Given the description of an element on the screen output the (x, y) to click on. 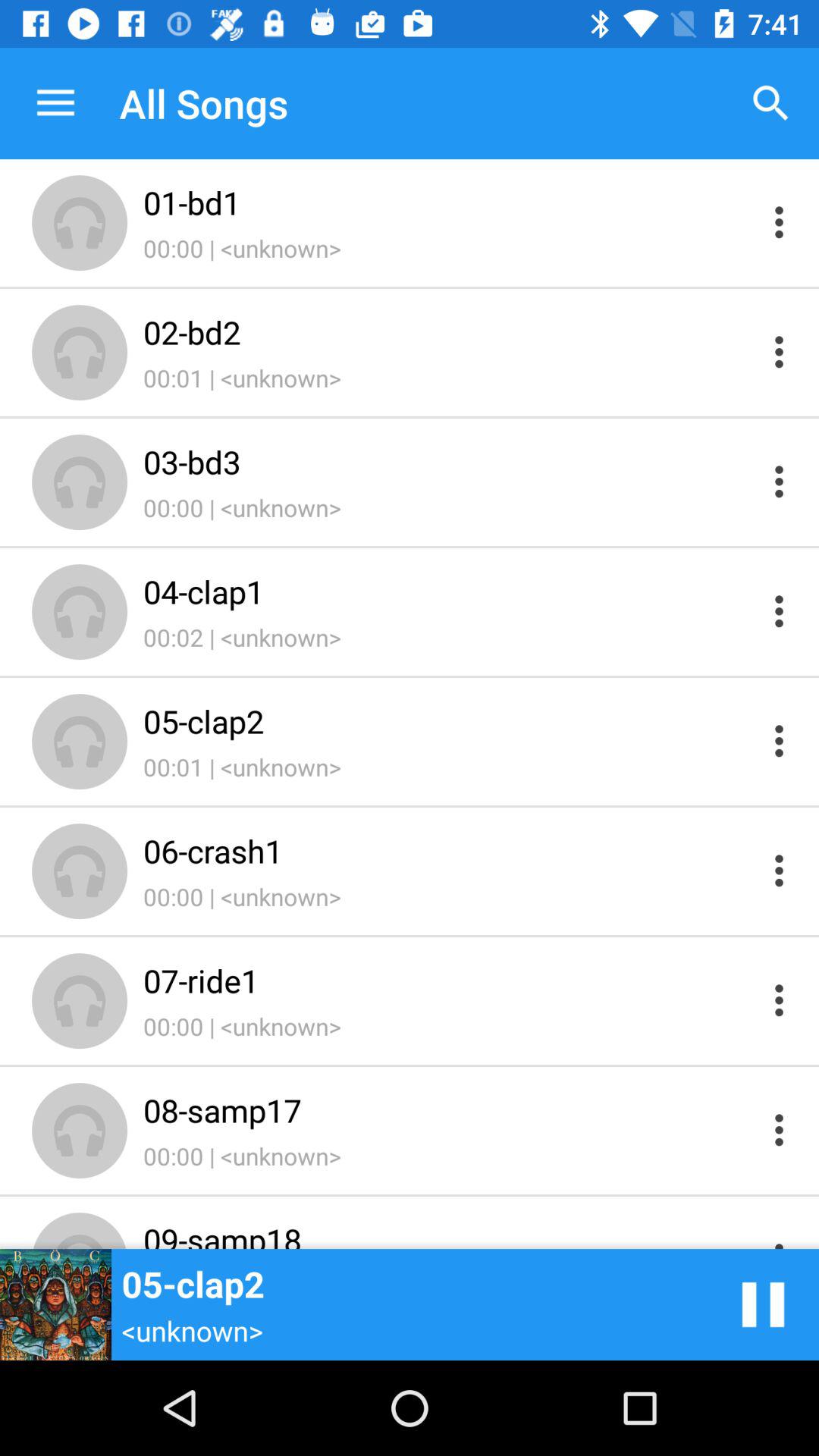
open menu (779, 611)
